Given the description of an element on the screen output the (x, y) to click on. 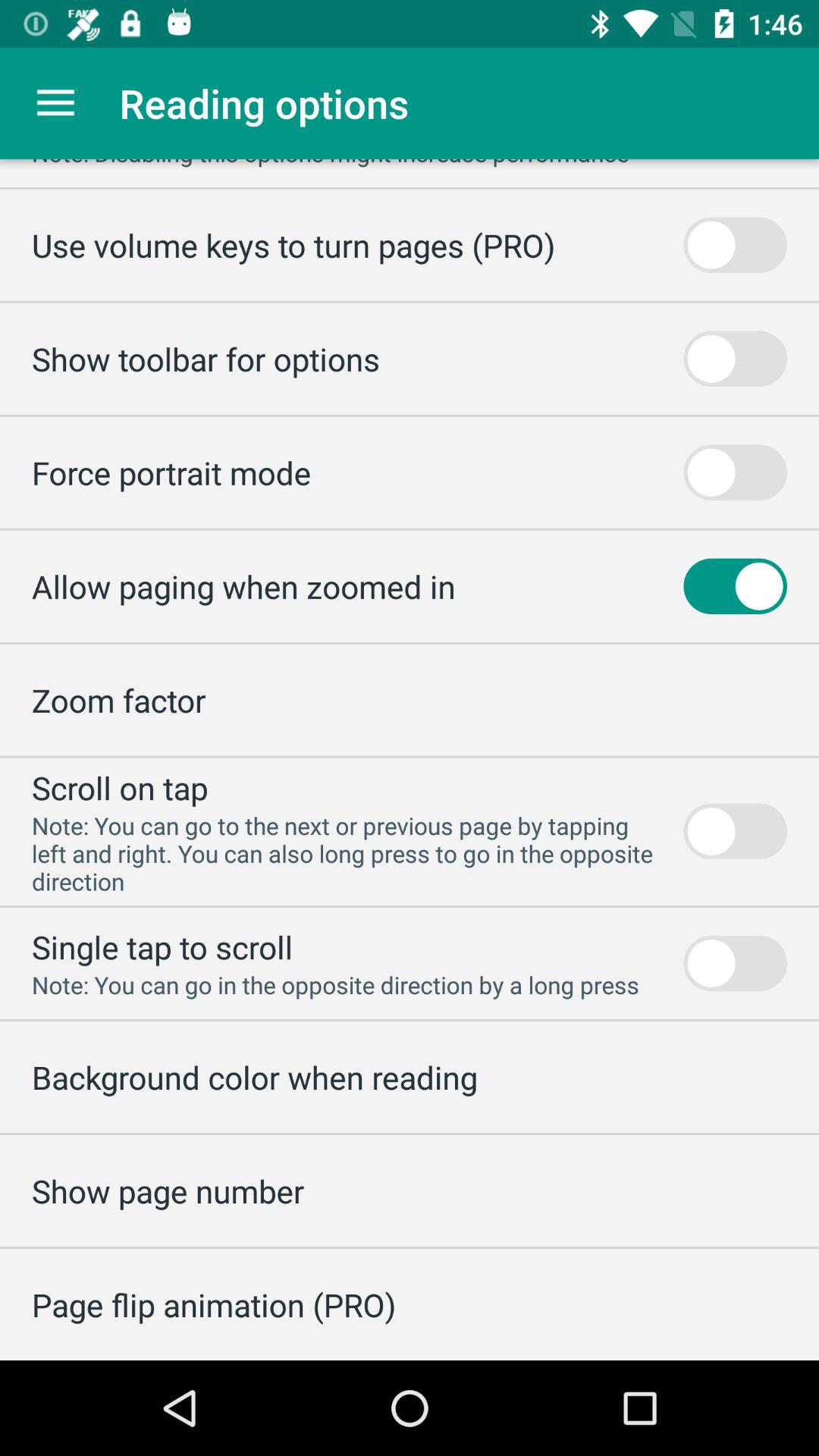
click item to the left of the reading options item (55, 103)
